Given the description of an element on the screen output the (x, y) to click on. 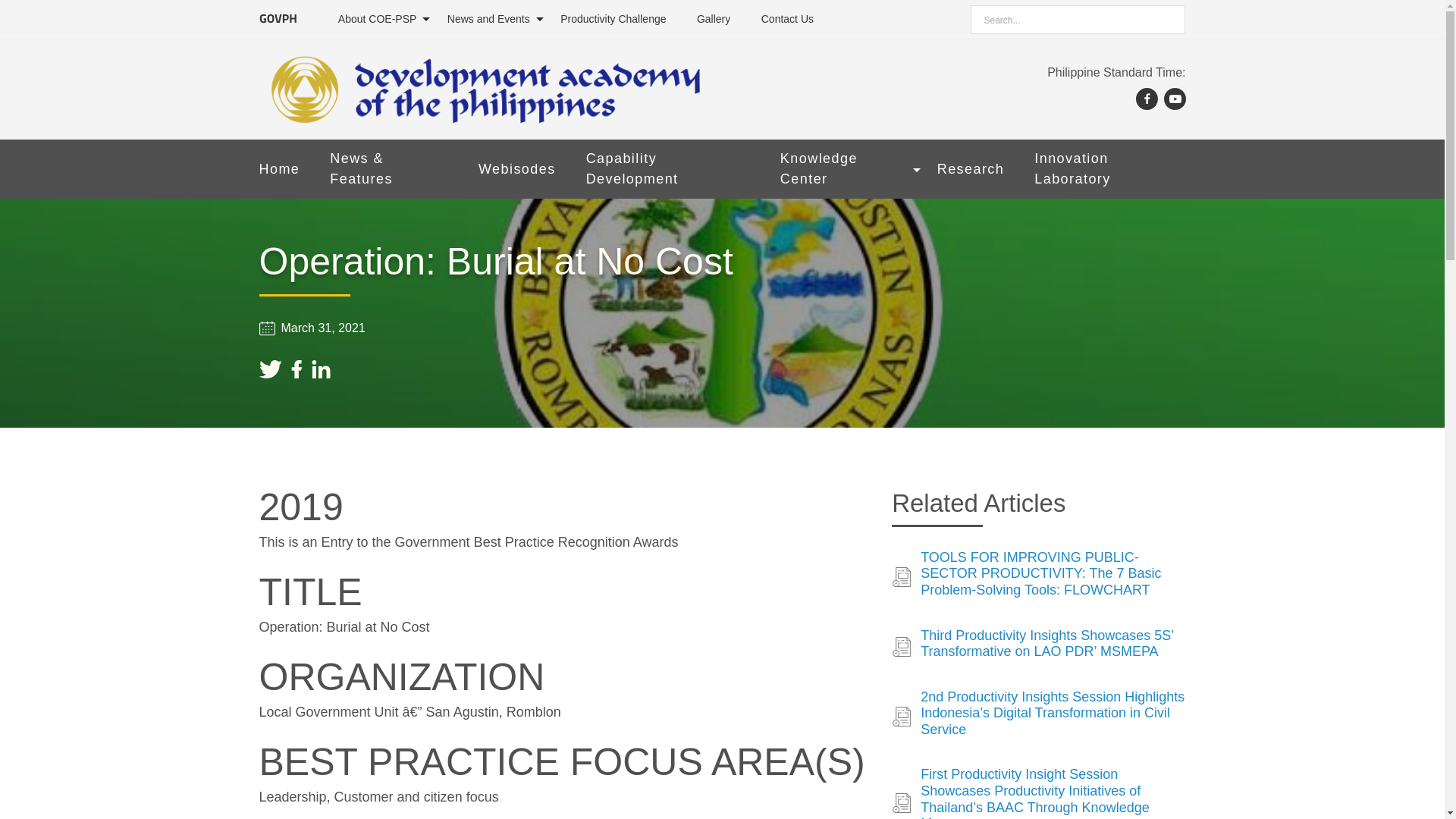
Knowledge Center (843, 169)
Contact Us (787, 19)
Webisodes (517, 169)
Productivity Challenge (612, 19)
Research (970, 169)
Home (279, 169)
Capability Development (667, 169)
Innovation Laboratory (1109, 169)
